Given the description of an element on the screen output the (x, y) to click on. 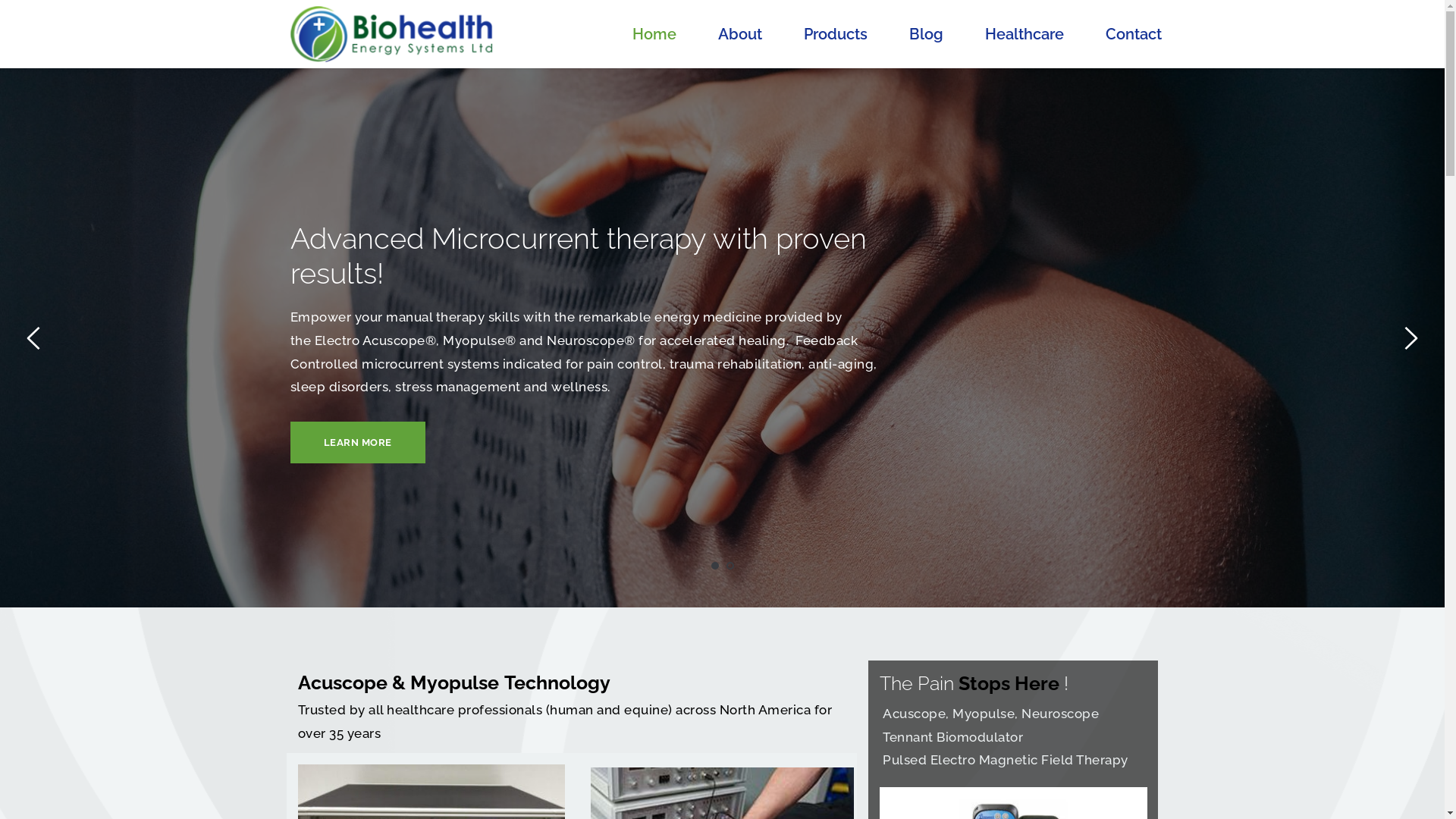
About Element type: text (739, 33)
Healthcare Element type: text (1024, 33)
Products Element type: text (835, 33)
Home Element type: text (654, 33)
LEARN MORE Element type: text (356, 442)
Blog Element type: text (926, 33)
2 Element type: text (730, 565)
Contact Element type: text (1133, 33)
1 Element type: text (714, 565)
